Given the description of an element on the screen output the (x, y) to click on. 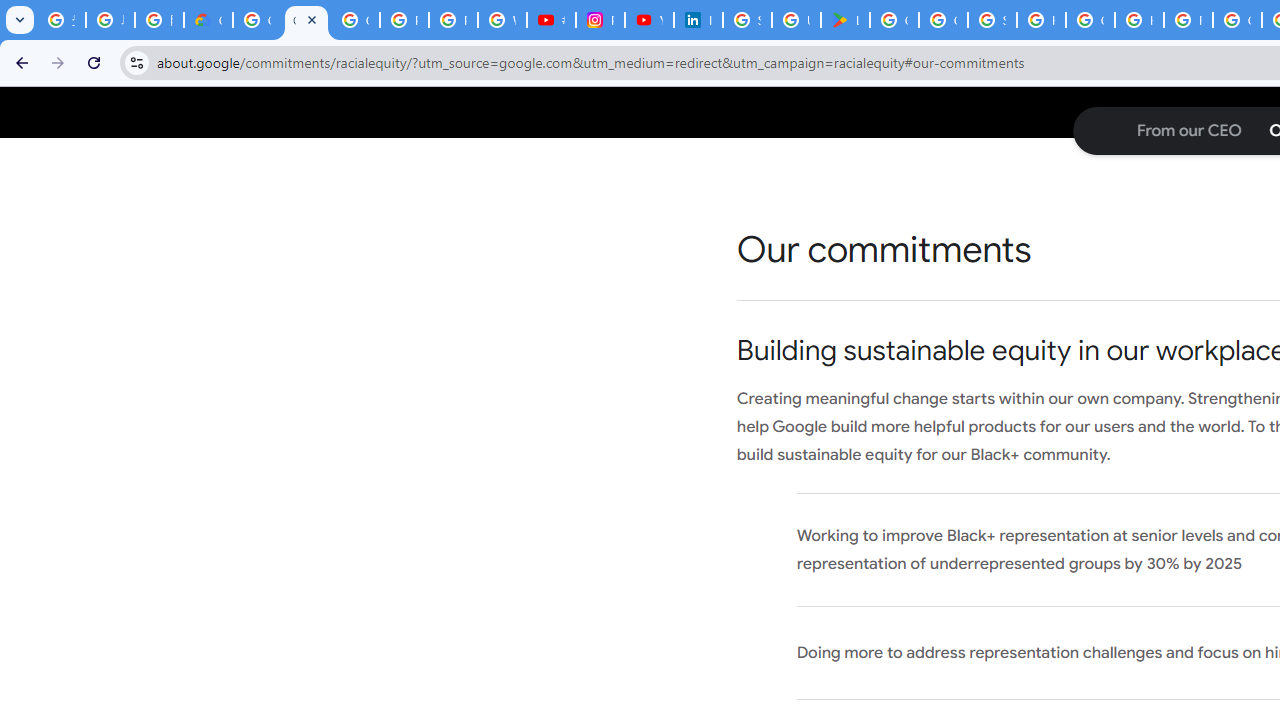
From our CEO: Jump to page section (1188, 131)
How do I create a new Google Account? - Google Account Help (1138, 20)
Privacy Help Center - Policies Help (452, 20)
